Given the description of an element on the screen output the (x, y) to click on. 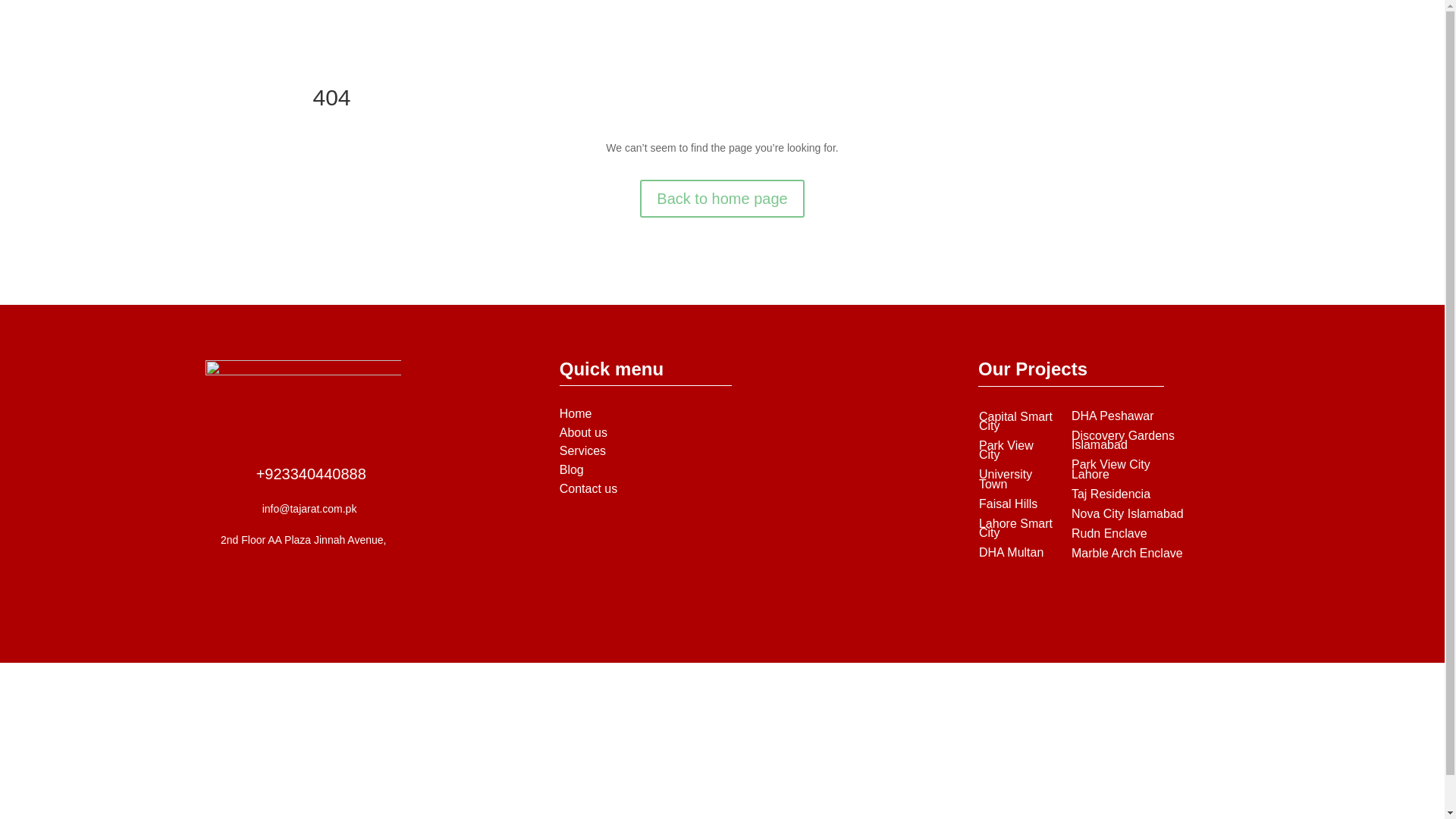
About us (583, 431)
Blog (571, 469)
University Town (1005, 478)
Home (575, 413)
DHA Peshawar (1112, 415)
Back to home page (721, 198)
Services (582, 450)
Nova City Islamabad (1127, 513)
Park View City Lahore (1110, 468)
Lahore Smart City (1015, 527)
Contact us (588, 488)
Faisal Hills (1007, 503)
Capital Smart City (1015, 421)
Discovery Gardens Islamabad (1122, 440)
tajarat-logo (303, 392)
